Given the description of an element on the screen output the (x, y) to click on. 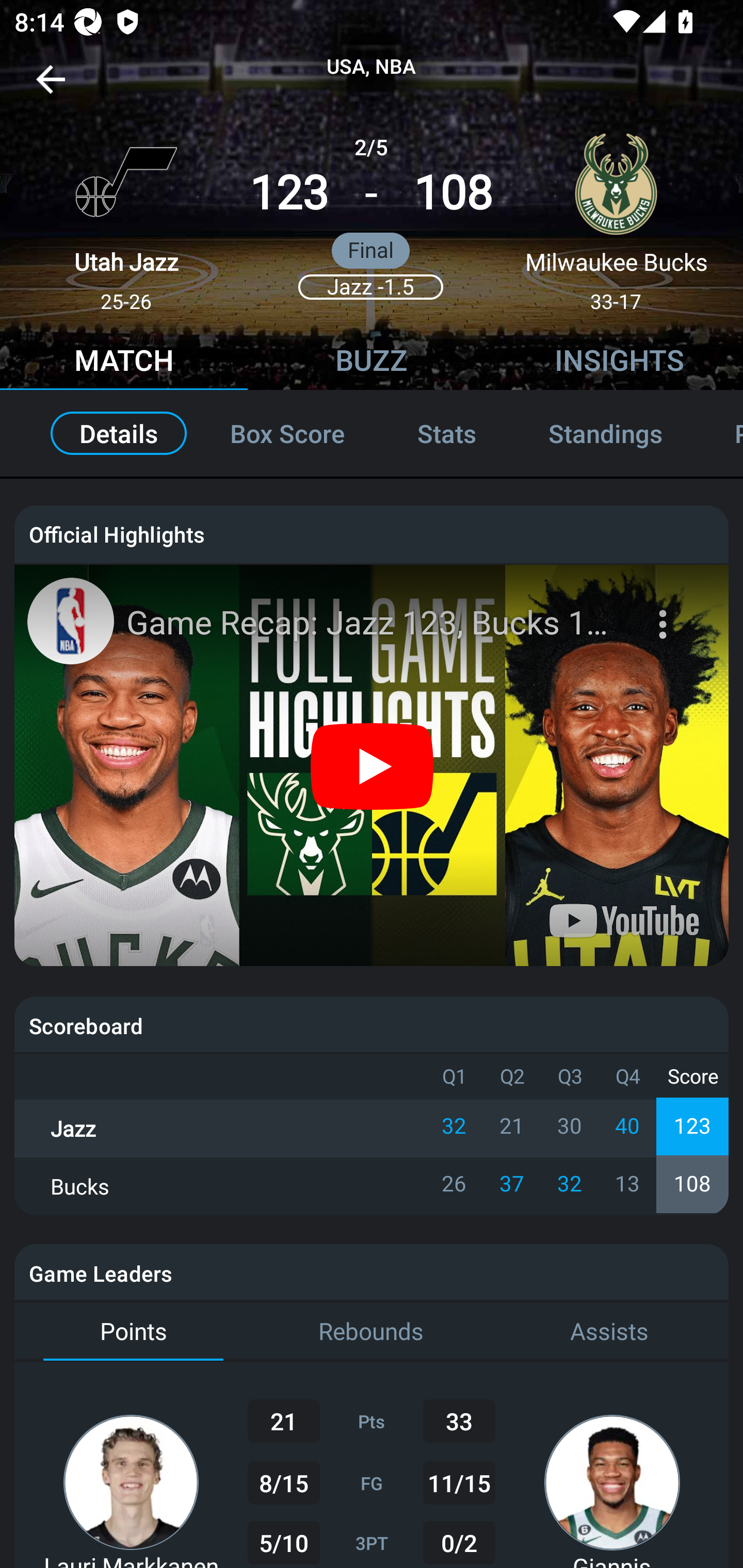
Navigate up (50, 86)
USA, NBA (371, 66)
Utah Jazz 25-26 (126, 214)
Milwaukee Bucks 33-17 (616, 214)
123 (288, 192)
108 (453, 192)
MATCH (123, 362)
BUZZ (371, 362)
INSIGHTS (619, 362)
Box Score (287, 433)
Stats (446, 433)
Standings (605, 433)
Official Highlights (371, 533)
More (665, 612)
Photo image of Motion Station (70, 620)
Game Recap: Jazz 123, Bucks 108 (373, 623)
Play (372, 765)
Rebounds (371, 1332)
Assists (609, 1332)
